Given the description of an element on the screen output the (x, y) to click on. 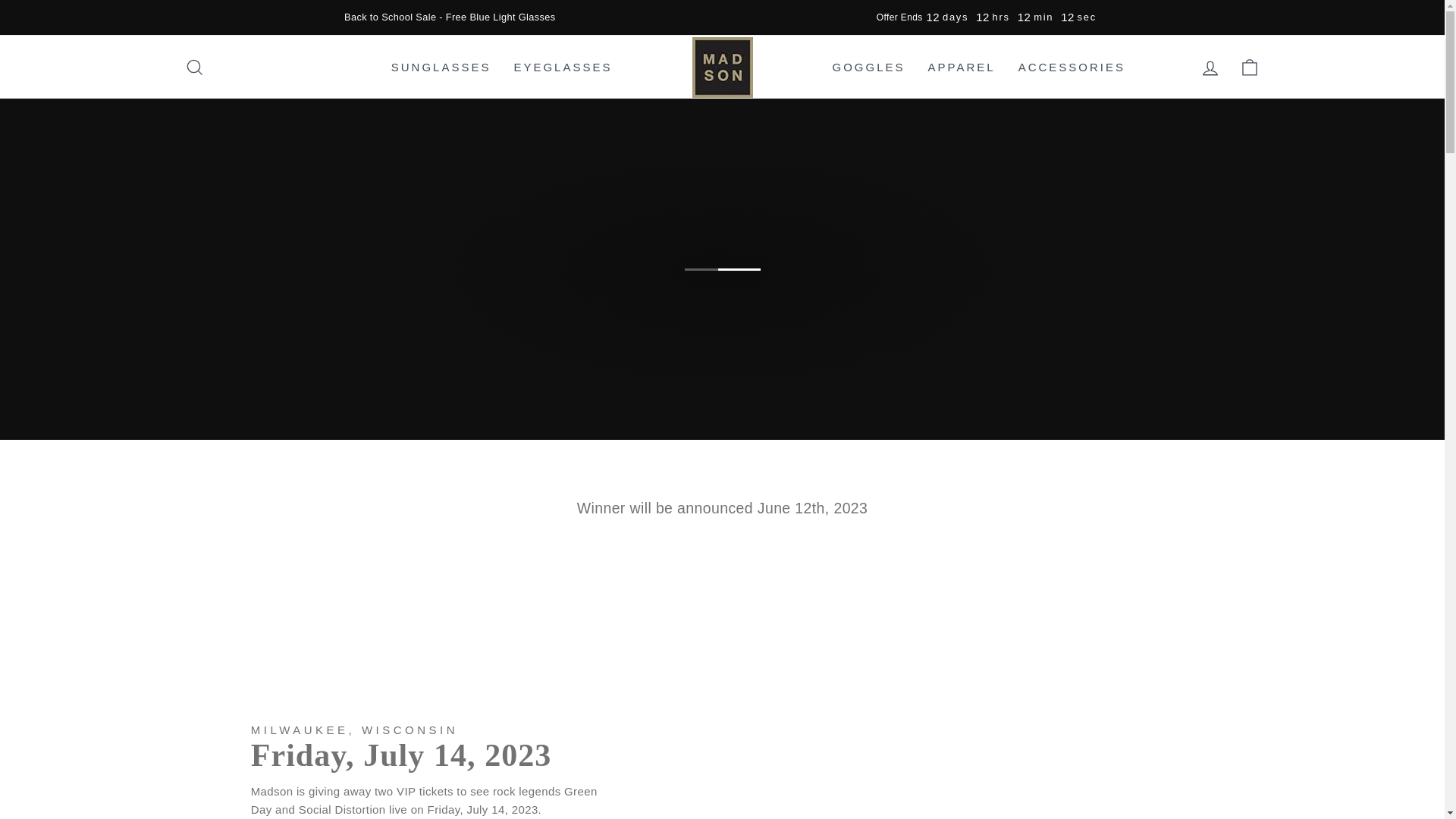
ACCESSORIES (1072, 66)
SEARCH (194, 66)
LOG IN (1210, 66)
EYEGLASSES (562, 66)
APPAREL (962, 66)
SUNGLASSES (441, 66)
GOGGLES (868, 66)
